Given the description of an element on the screen output the (x, y) to click on. 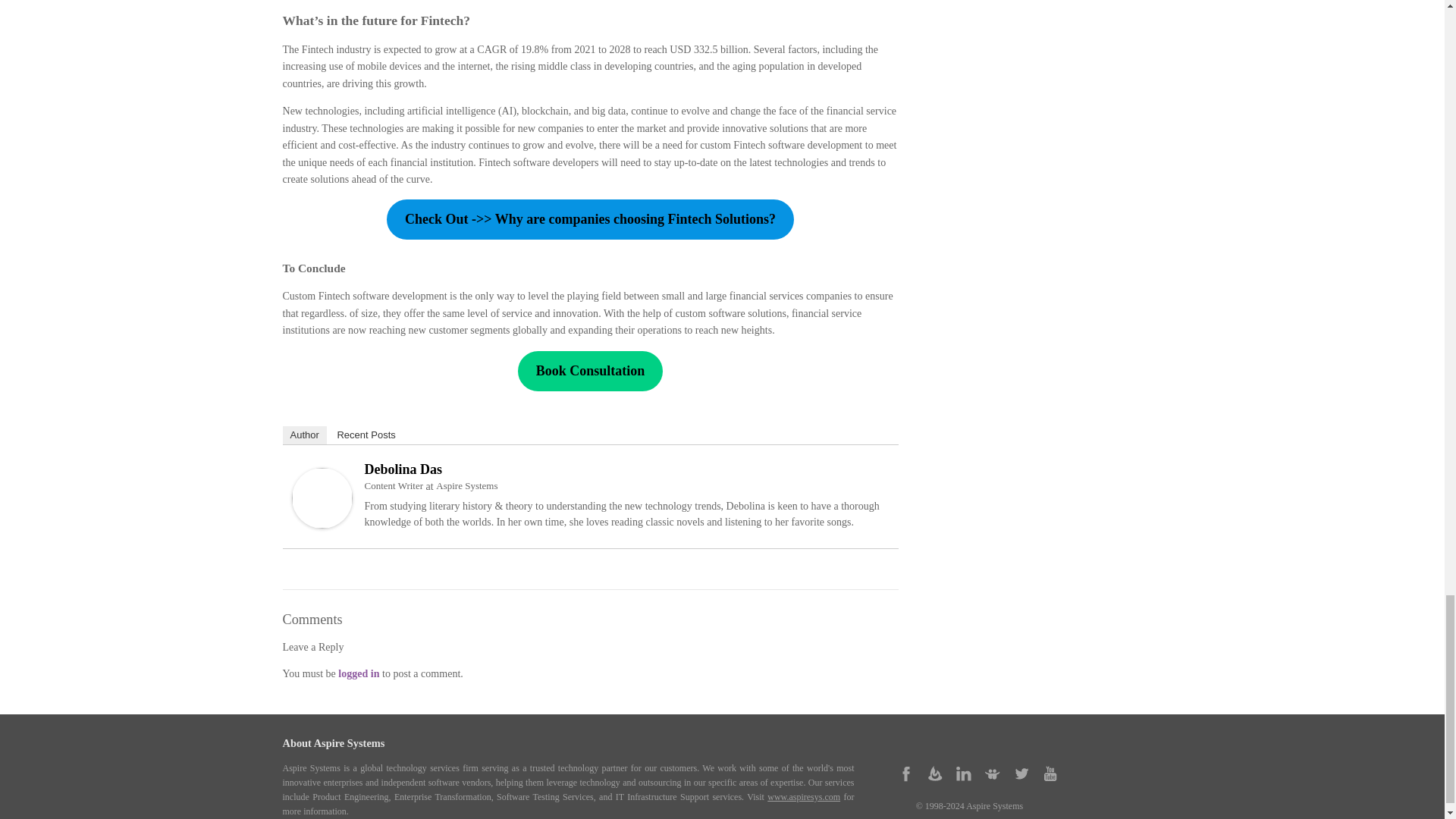
FeedBurner (935, 773)
SlideShare (991, 773)
Facebook (905, 773)
Debolina Das (321, 524)
YouTube (1050, 773)
LinkedIn (963, 773)
Twitter (1021, 773)
